Given the description of an element on the screen output the (x, y) to click on. 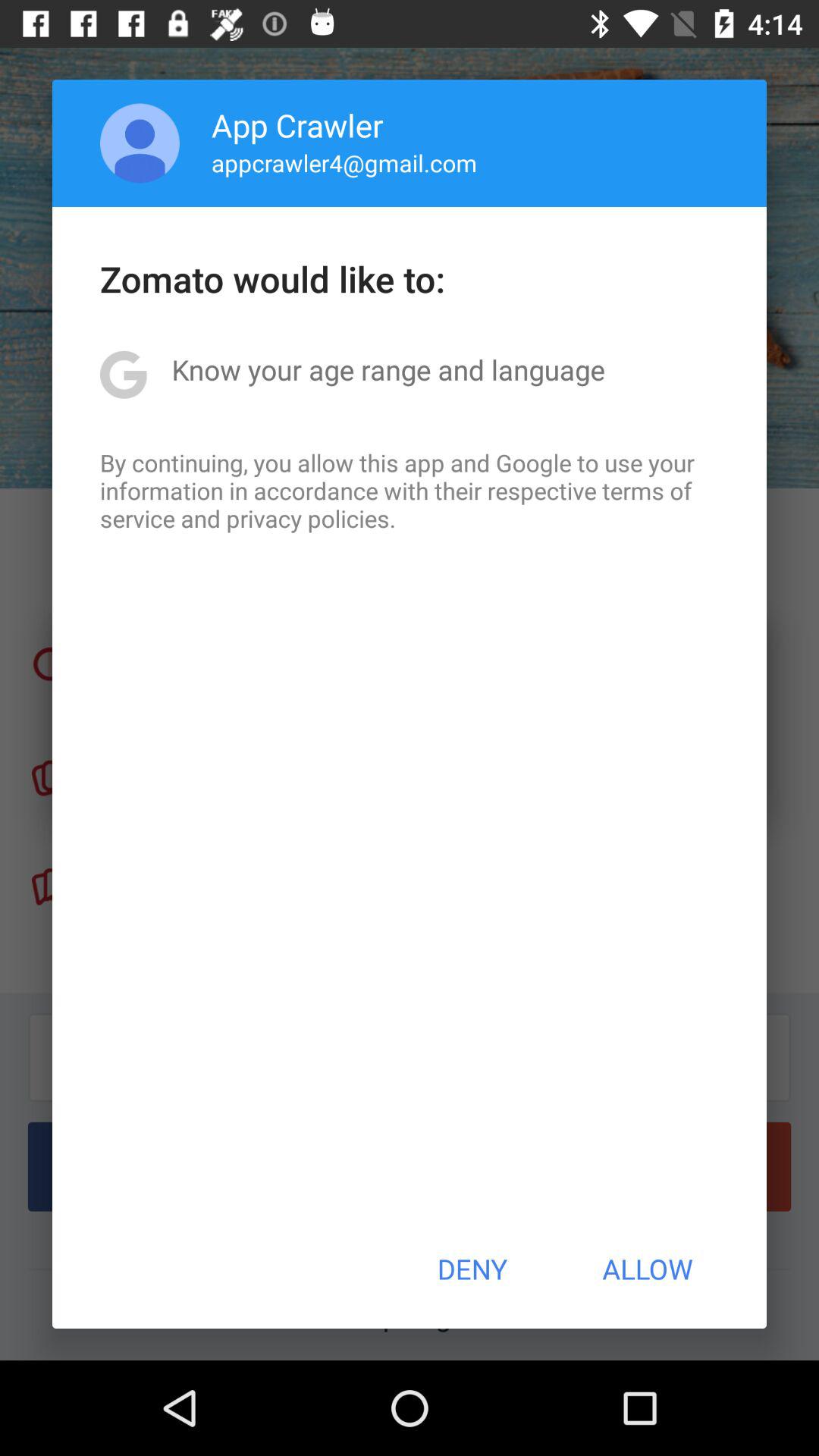
turn off icon below the app crawler (344, 162)
